Given the description of an element on the screen output the (x, y) to click on. 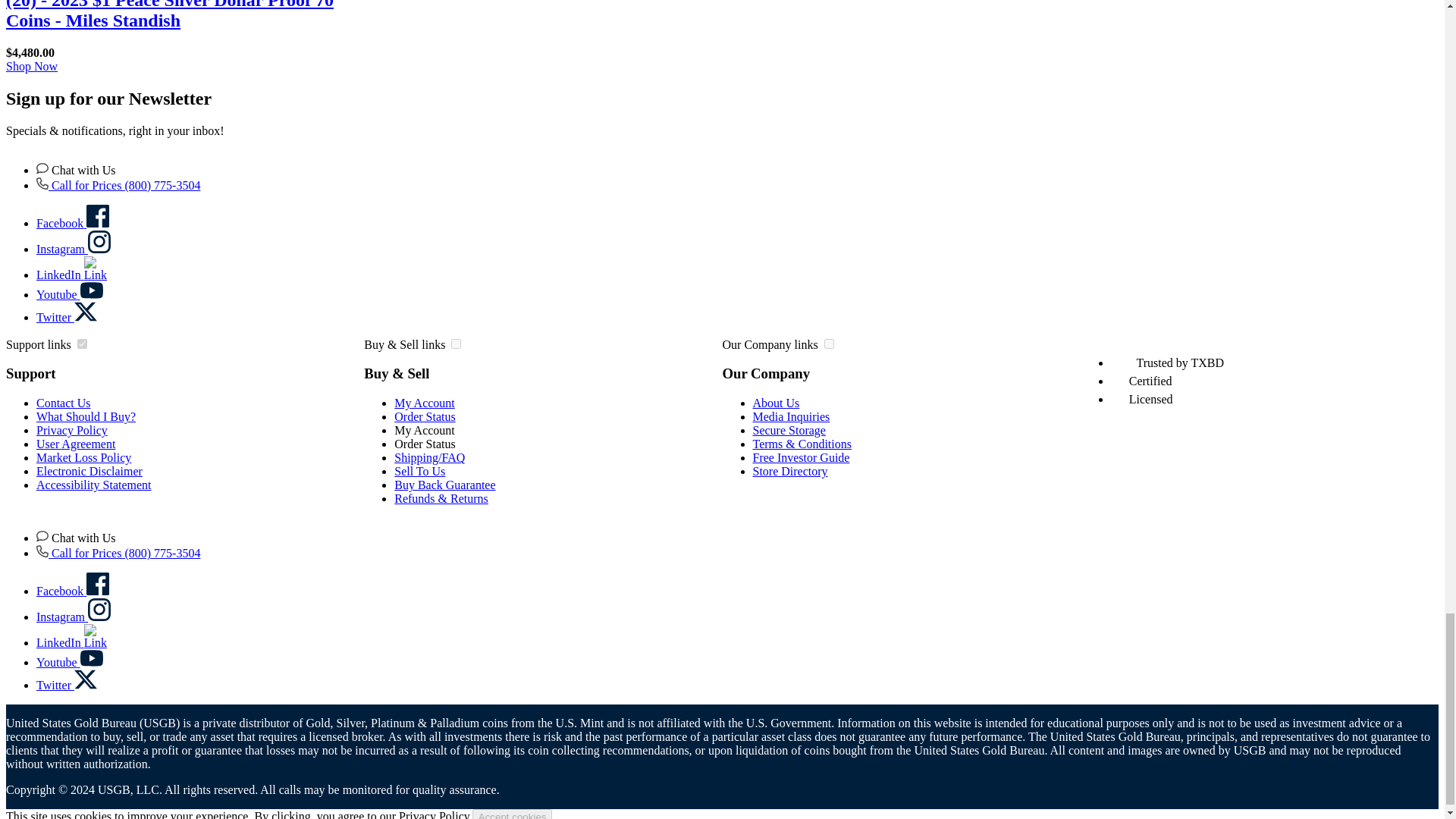
LinkedIn (71, 274)
Youtube (69, 662)
Twitter (66, 684)
on (456, 343)
Facebook (72, 590)
Instagram (73, 616)
on (82, 343)
Youtube (69, 294)
Facebook (72, 223)
Instagram (73, 248)
Twitter (66, 317)
on (829, 343)
LinkedIn (71, 642)
